Given the description of an element on the screen output the (x, y) to click on. 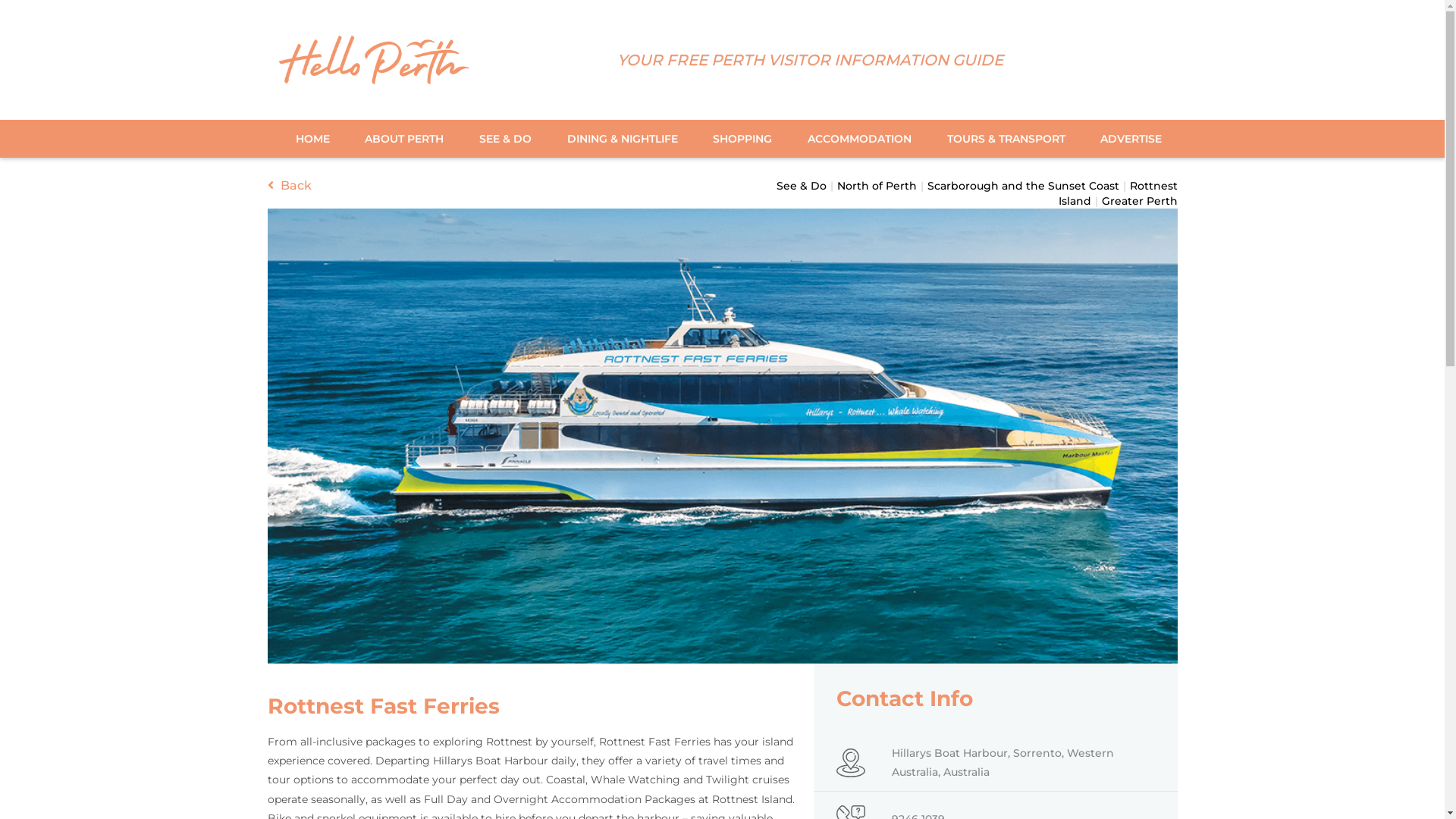
Scarborough and the Sunset Coast Element type: text (1022, 185)
TOURS & TRANSPORT Element type: text (1006, 138)
SEE & DO Element type: text (505, 138)
ACCOMMODATION Element type: text (859, 138)
HOME Element type: text (312, 138)
Rottnest Island Element type: text (1117, 192)
SHOPPING Element type: text (742, 138)
North of Perth Element type: text (876, 185)
See & Do Element type: text (801, 185)
Greater Perth Element type: text (1138, 200)
DINING & NIGHTLIFE Element type: text (622, 138)
Back Element type: text (288, 186)
ADVERTISE Element type: text (1124, 138)
ABOUT PERTH Element type: text (403, 138)
